Given the description of an element on the screen output the (x, y) to click on. 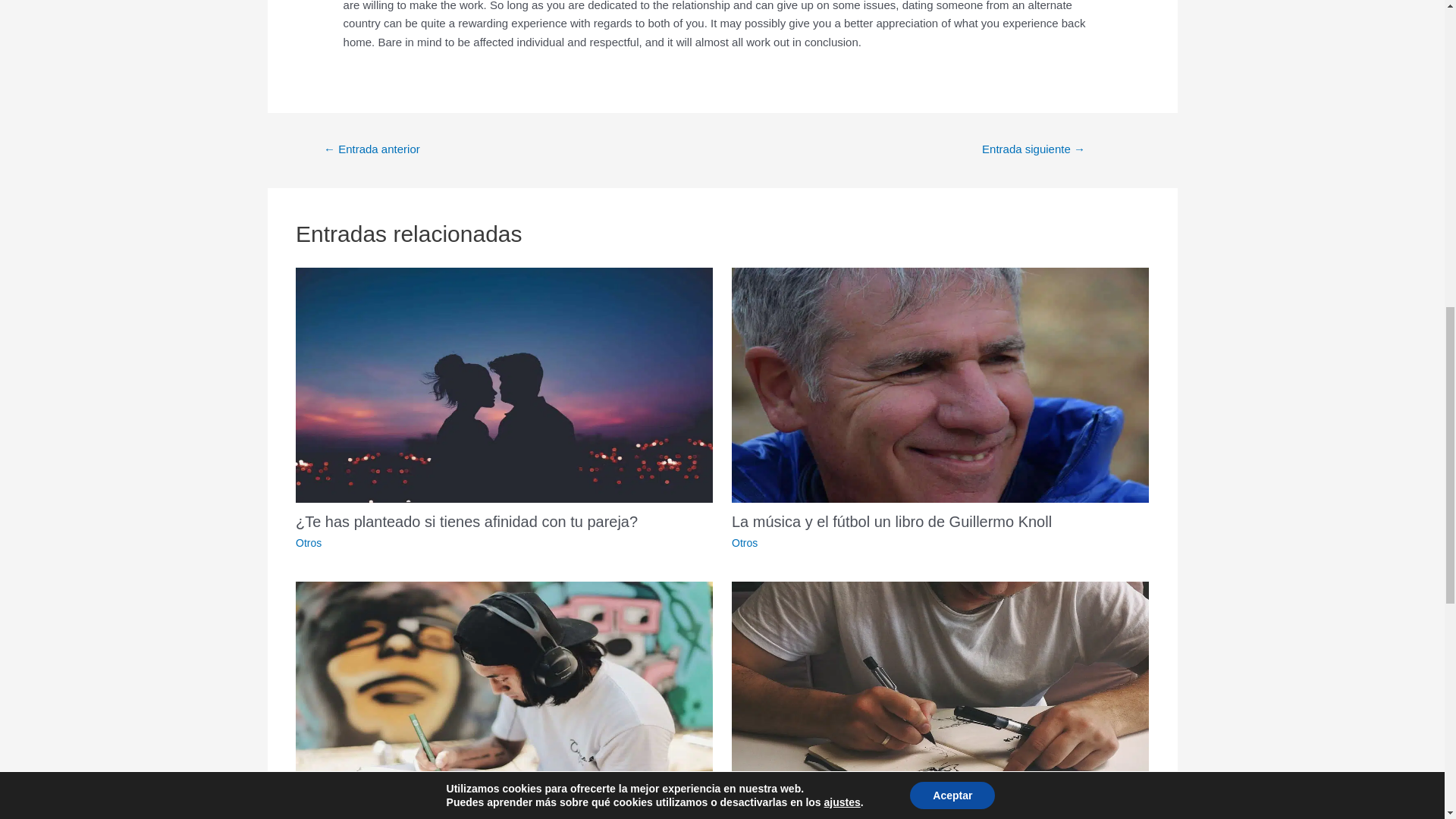
Otros (308, 542)
Getting Foreign Girls Online (370, 150)
Discussing with an Hard anodized cookware Girl Initially (1034, 150)
Otros (744, 542)
